Given the description of an element on the screen output the (x, y) to click on. 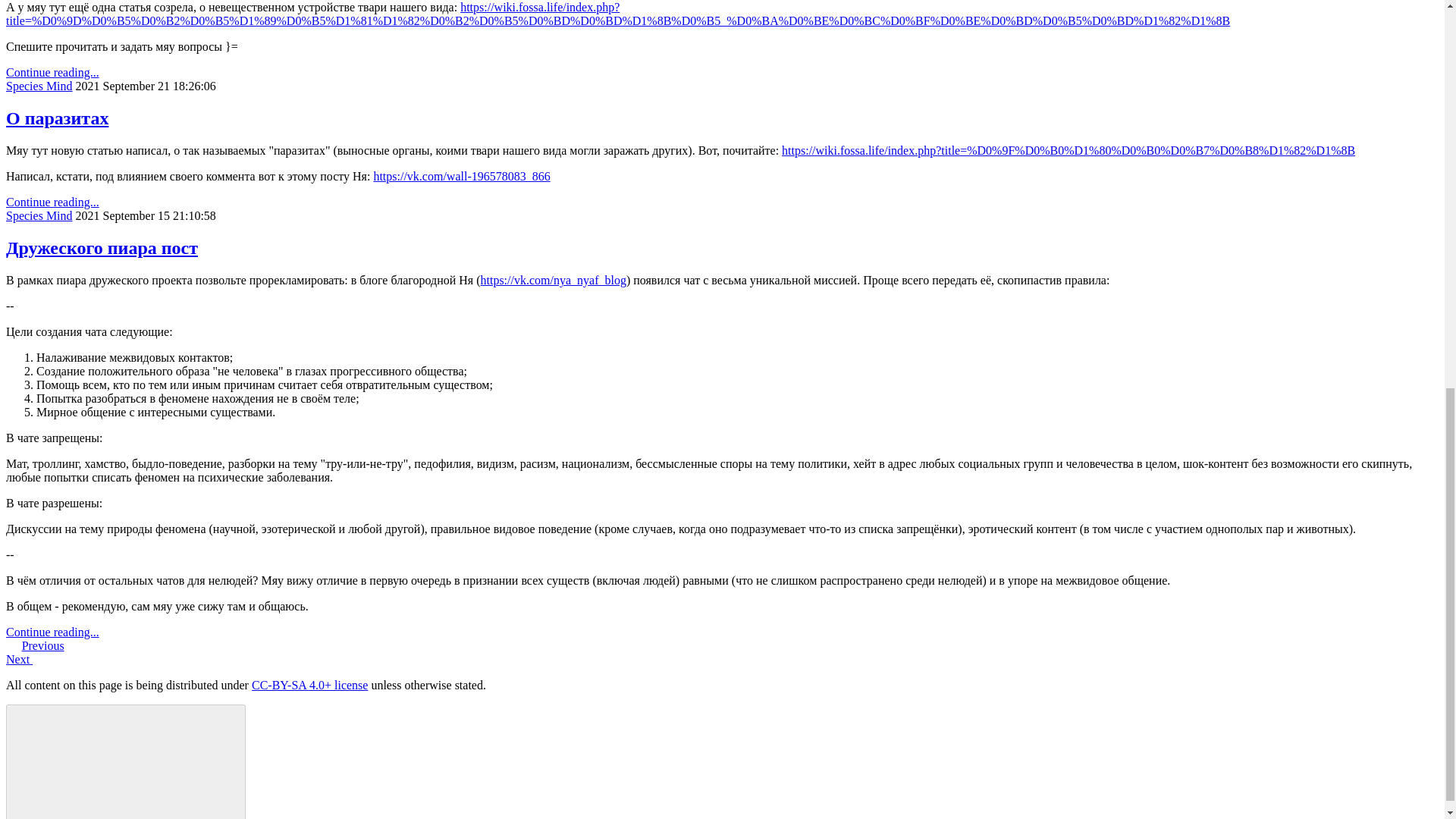
Continue reading... (52, 631)
Continue reading... (52, 72)
Species Mind (38, 215)
Species Mind (38, 85)
Continue reading... (52, 201)
Next (18, 658)
Previous (42, 645)
